Given the description of an element on the screen output the (x, y) to click on. 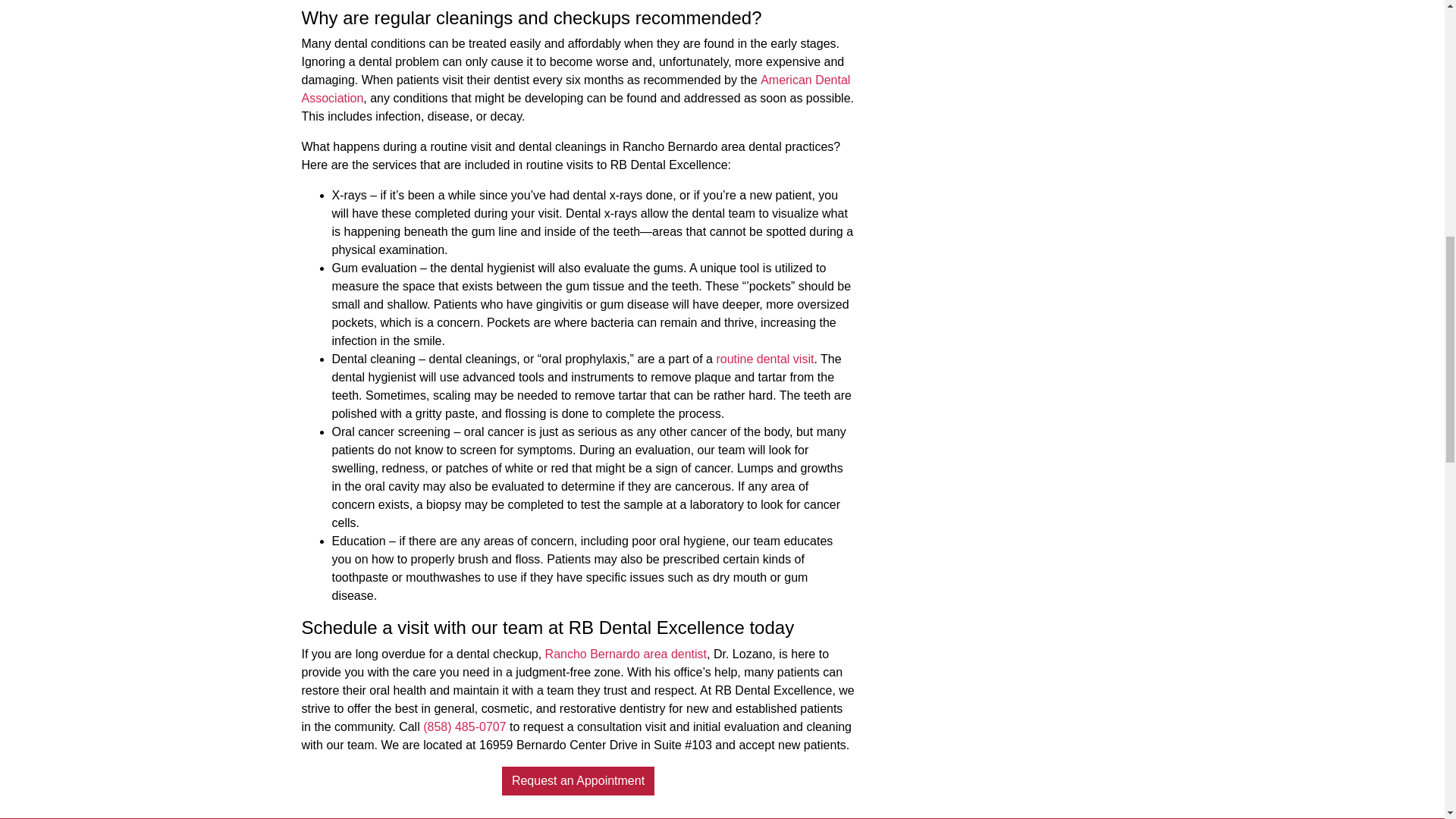
Rancho Bernardo area dentist (625, 653)
Request an Appointment (577, 780)
American Dental Association (575, 88)
routine dental visit (764, 358)
dental (351, 42)
